Given the description of an element on the screen output the (x, y) to click on. 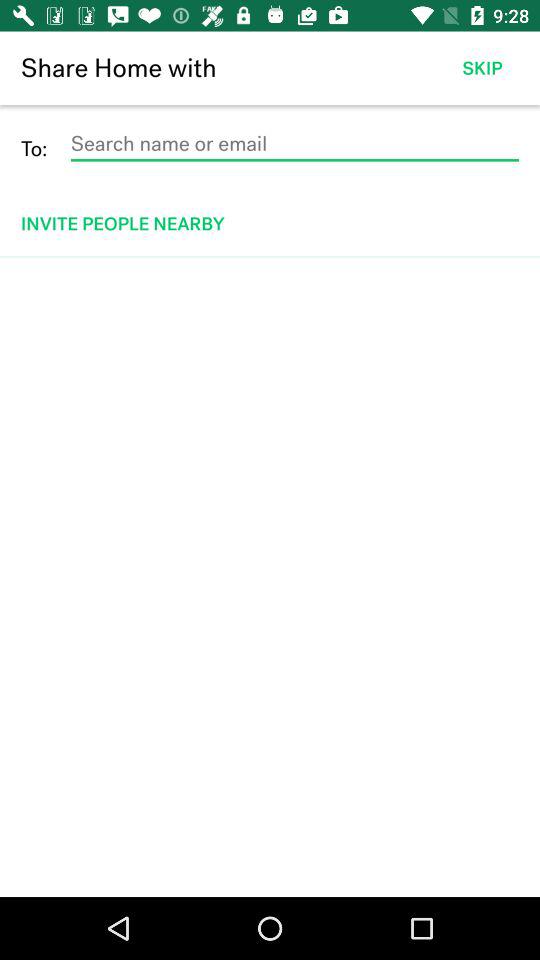
select the item to the right of the share home with item (482, 68)
